Given the description of an element on the screen output the (x, y) to click on. 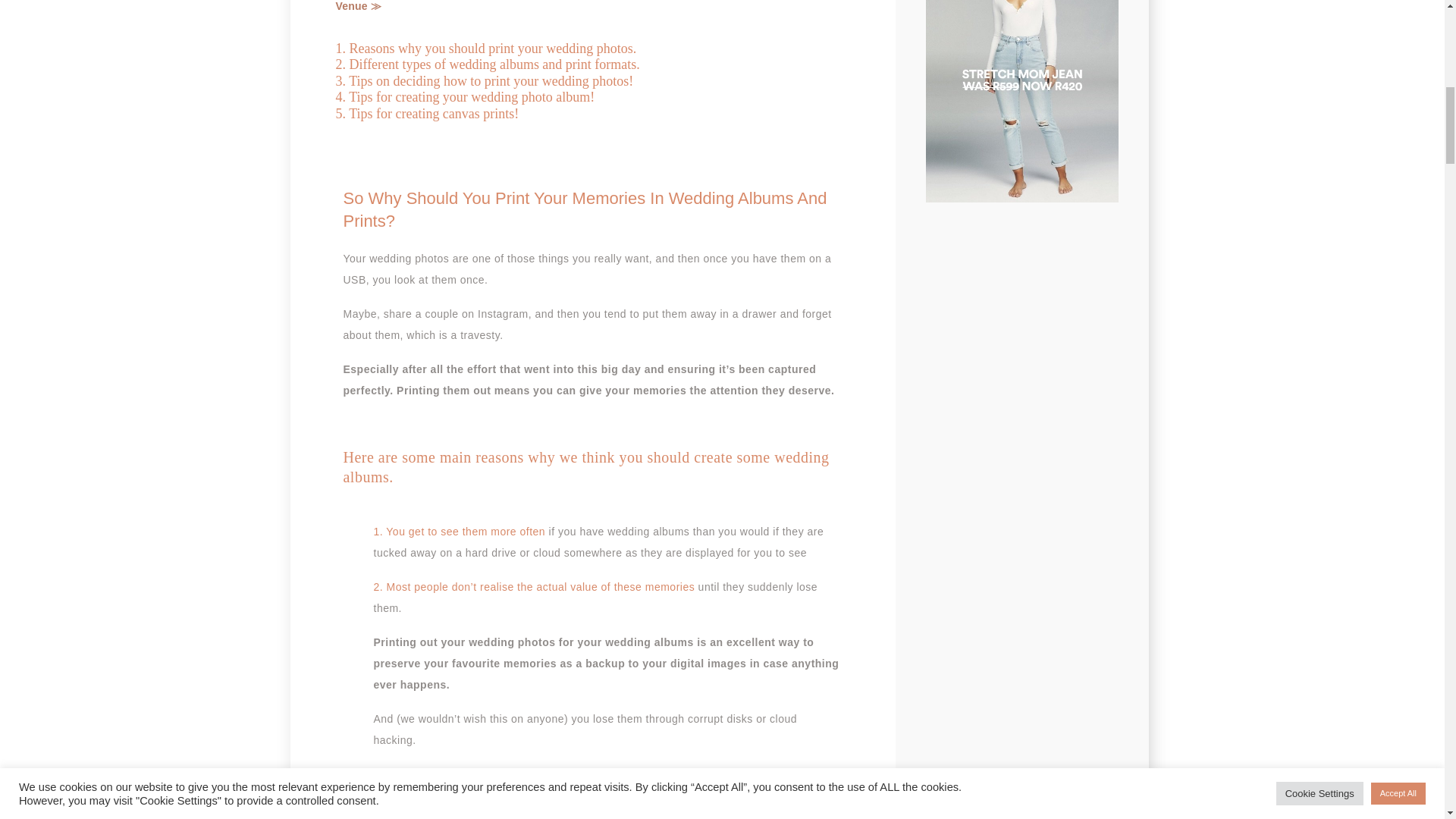
Photo Factory Venue (586, 6)
